Given the description of an element on the screen output the (x, y) to click on. 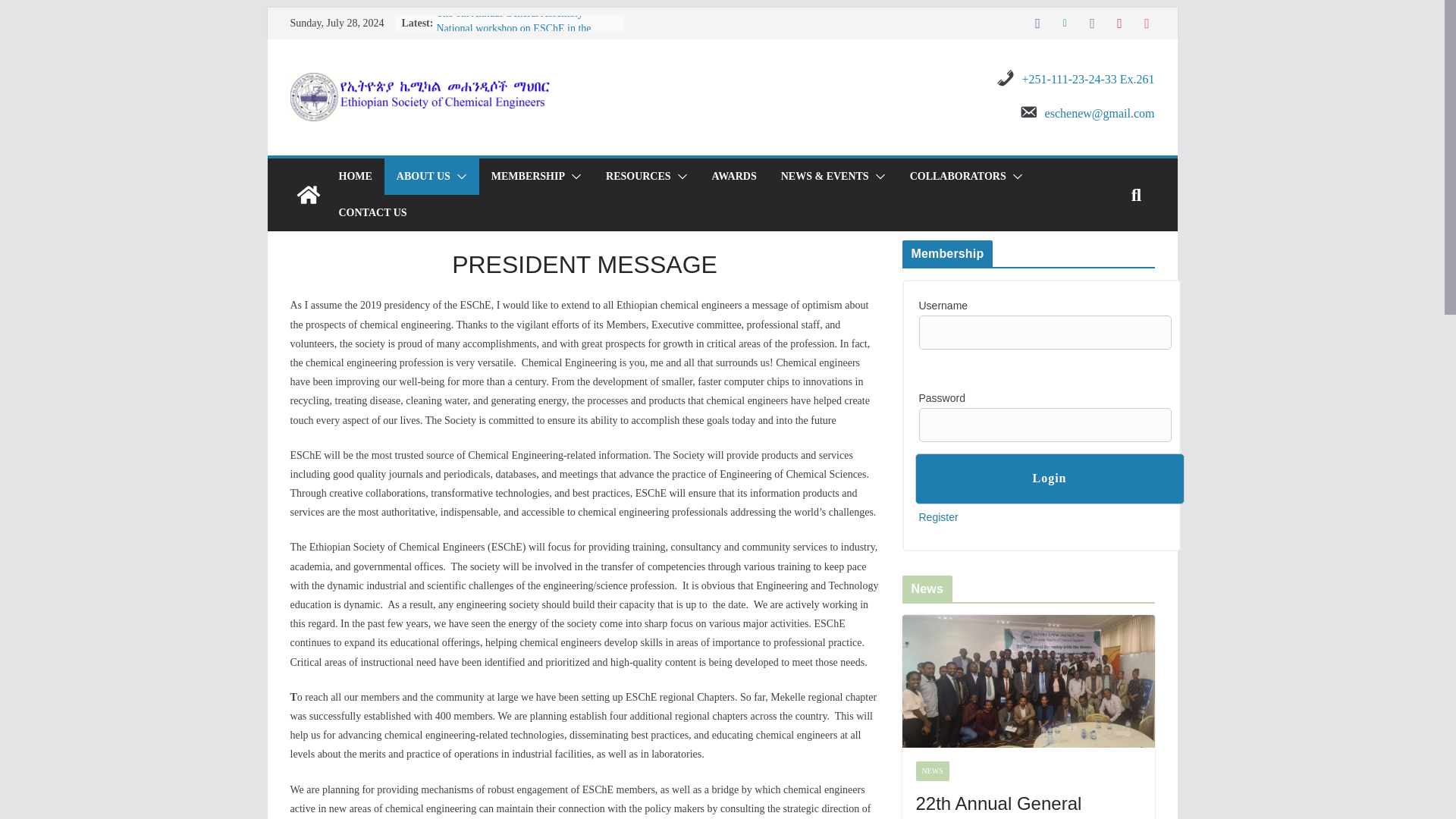
The 6th Annual General Assembly (509, 12)
MEMBERSHIP (528, 176)
Please enter password (1045, 424)
22th Annual General Assembly (1028, 681)
Please enter username (1045, 332)
Ethiopian Society of Chemical Engineers (307, 194)
The 6th Annual General Assembly (509, 12)
HOME (354, 176)
RESOURCES (638, 176)
22th Annual General Assembly (1028, 804)
ABOUT US (422, 176)
Login (1048, 478)
